Given the description of an element on the screen output the (x, y) to click on. 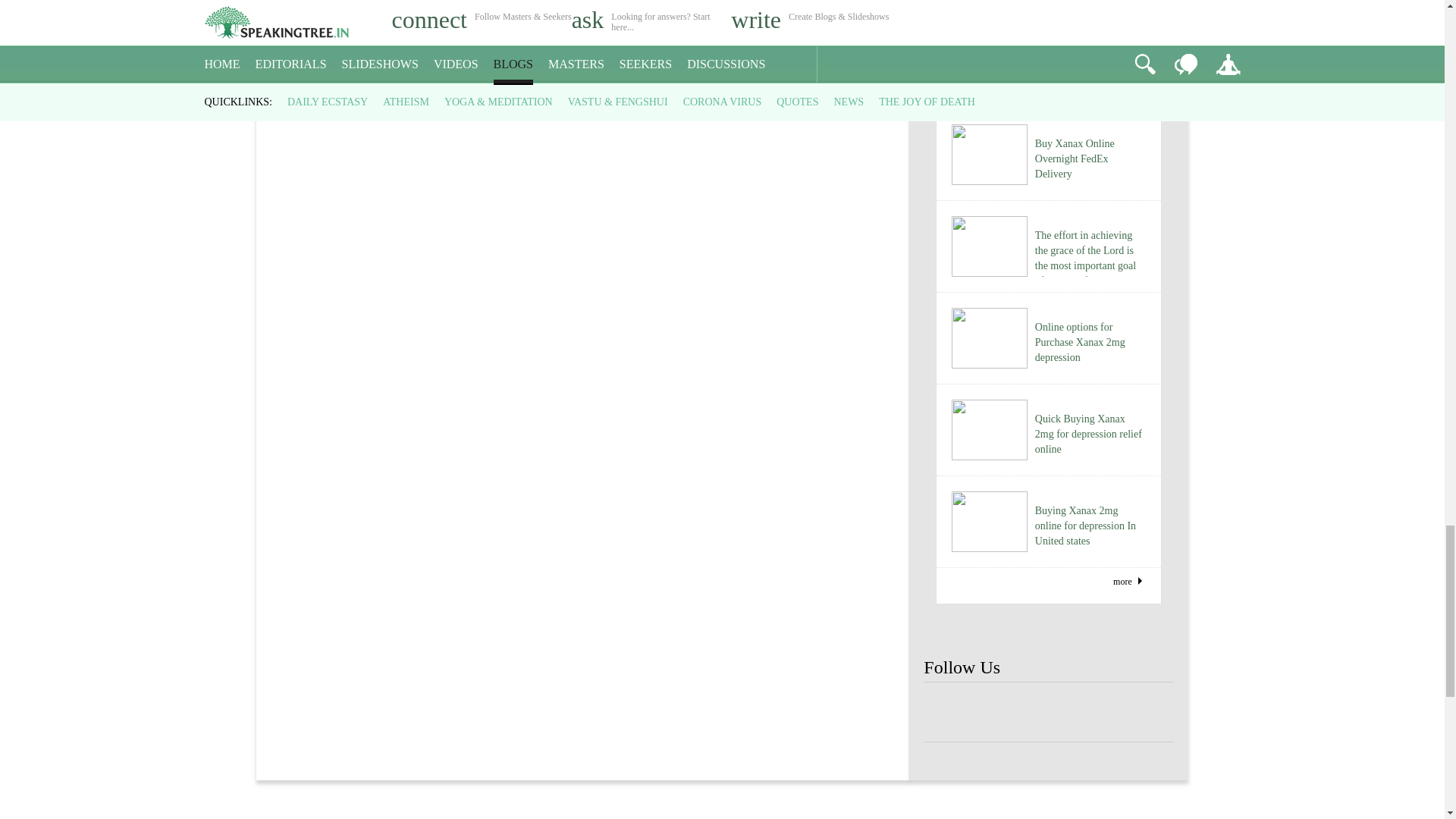
Speaking Tree FaceBook (998, 712)
Speaking Tree FaceBook (1099, 712)
Speaking Tree FaceBook (948, 712)
Speaking Tree FaceBook (1048, 712)
Speaking Tree FaceBook (1147, 712)
